Given the description of an element on the screen output the (x, y) to click on. 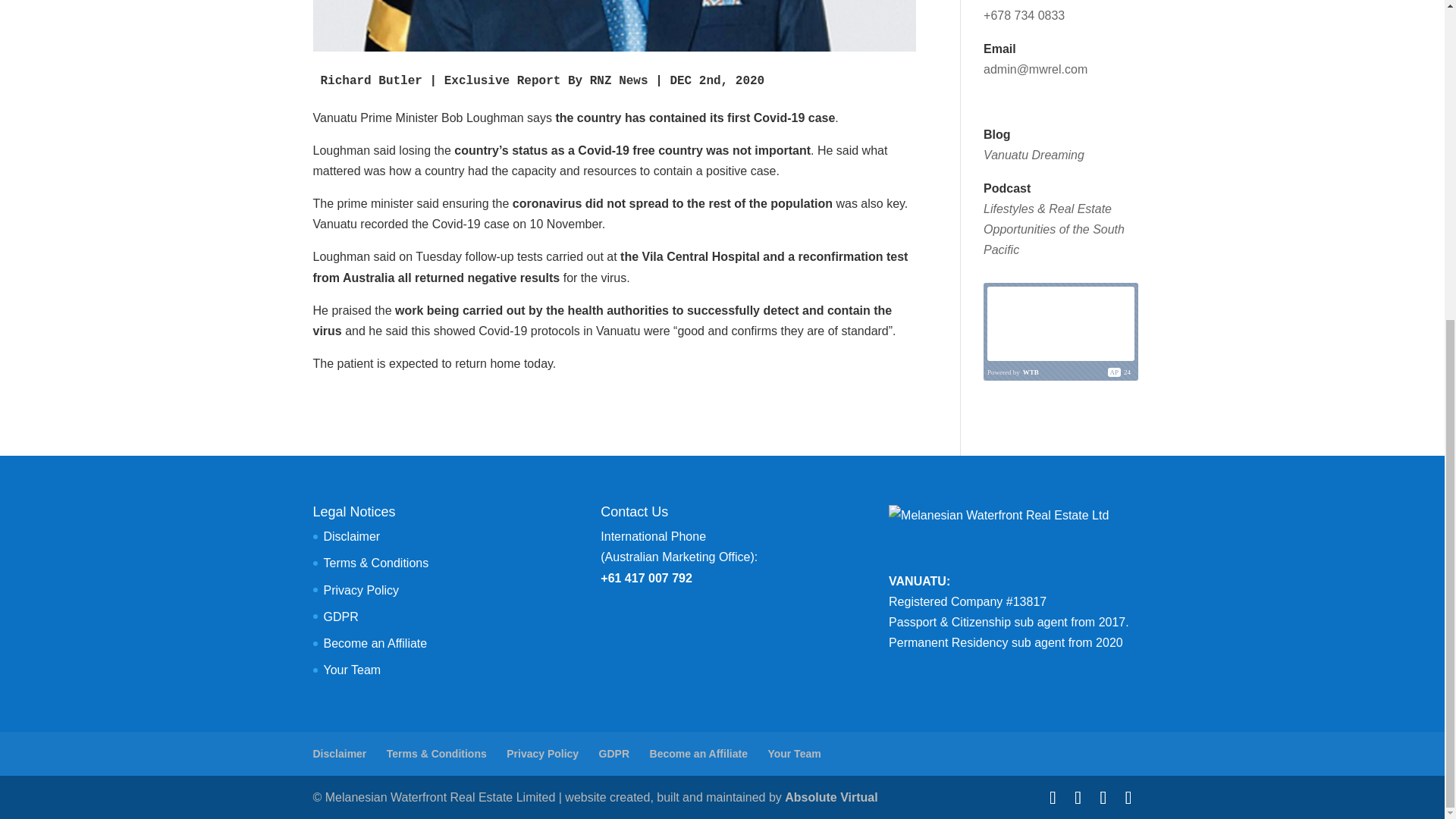
Privacy Policy (542, 753)
WTB (1031, 372)
Disclaimer (351, 535)
Your Team (351, 669)
Privacy Policy (360, 590)
Disclaimer (339, 753)
Switch to 24-hour format (1126, 372)
GDPR (340, 616)
GDPR (613, 753)
Vanuatu Dreaming (1034, 154)
Your Team (794, 753)
Become an Affiliate (698, 753)
Become an Affiliate (374, 643)
